Given the description of an element on the screen output the (x, y) to click on. 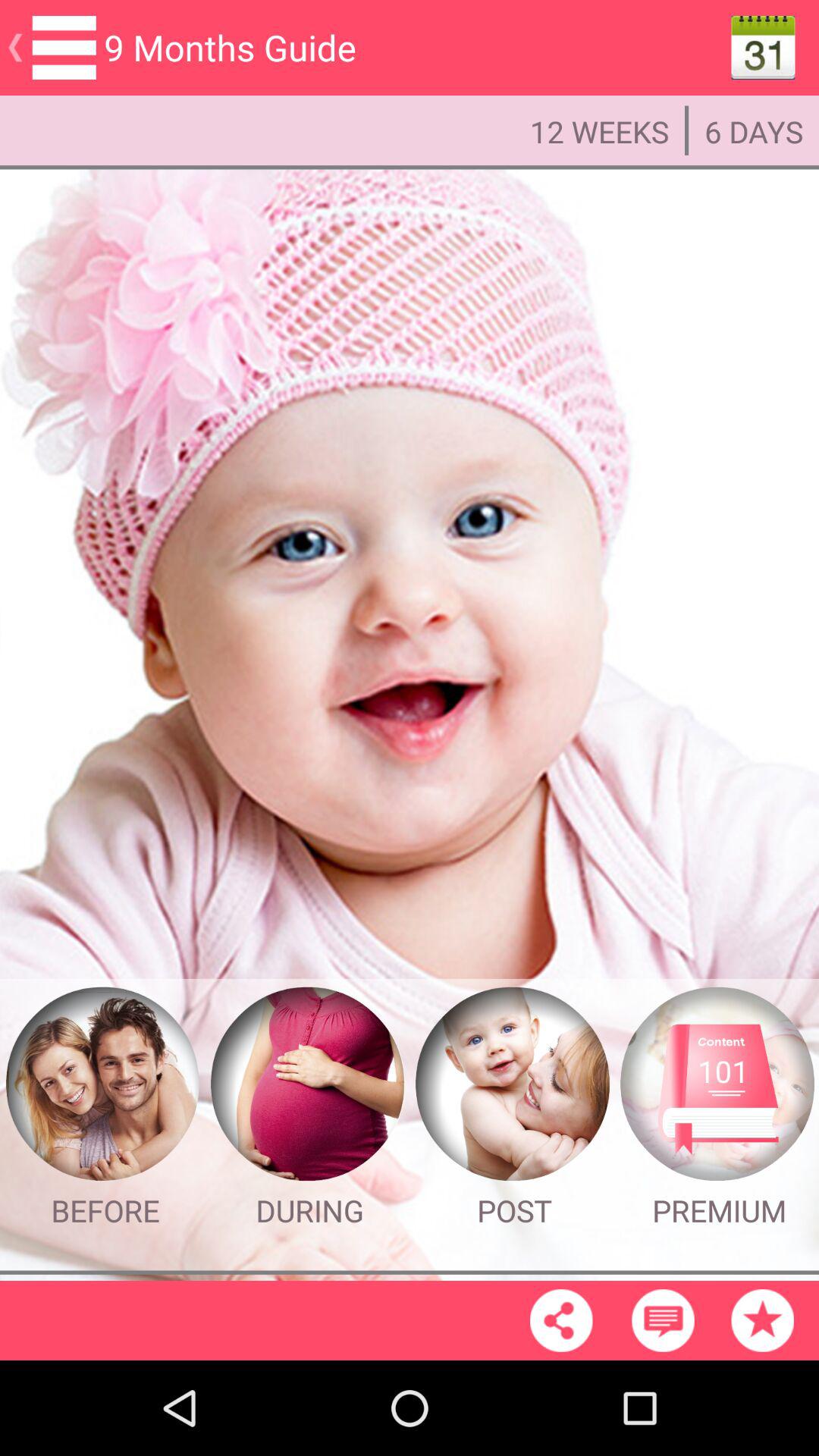
go to post (511, 1084)
